Given the description of an element on the screen output the (x, y) to click on. 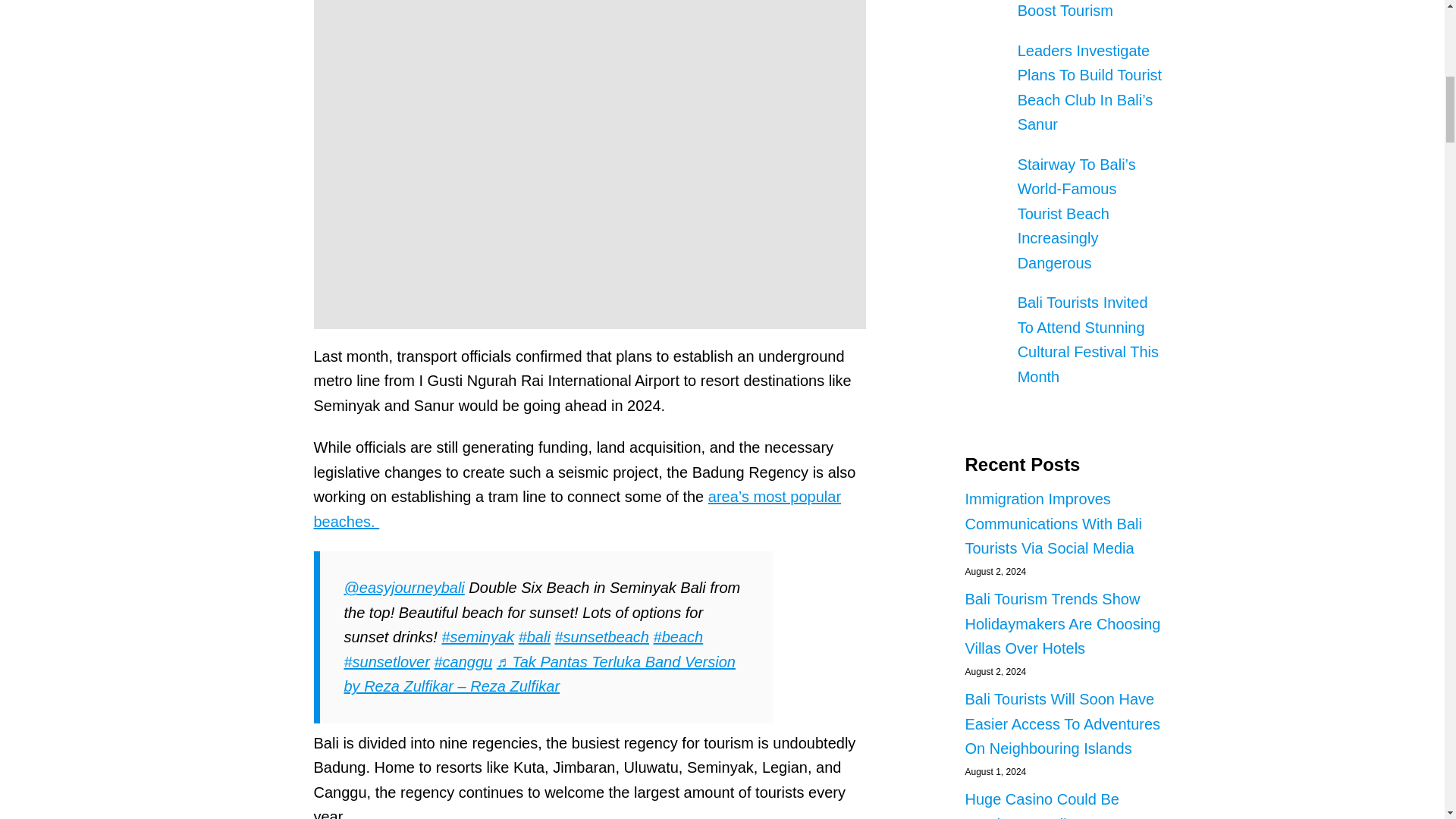
seminyak (477, 636)
sunsetlover (386, 661)
canggu (462, 661)
sunsetbeach (601, 636)
bali (534, 636)
beach (678, 636)
